Given the description of an element on the screen output the (x, y) to click on. 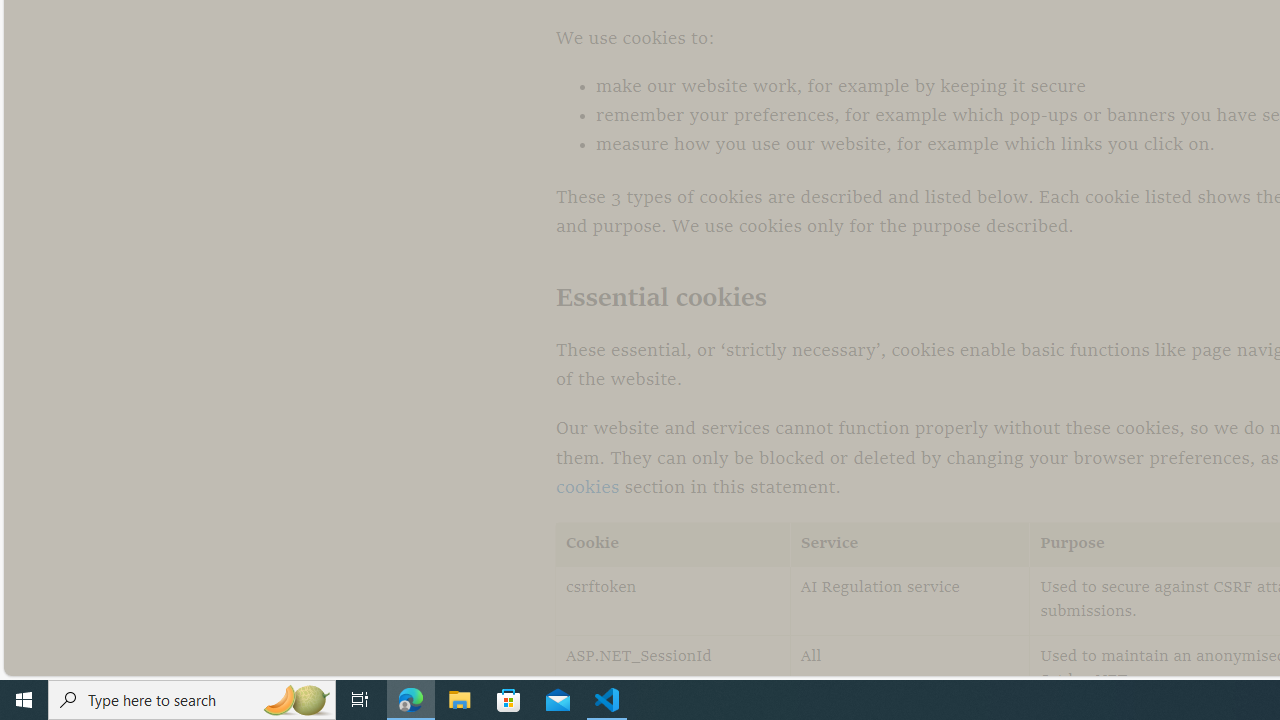
Cookie (673, 544)
csrftoken (673, 600)
Service (909, 544)
ASP.NET_SessionId (673, 669)
All (909, 669)
AI Regulation service (909, 600)
